Given the description of an element on the screen output the (x, y) to click on. 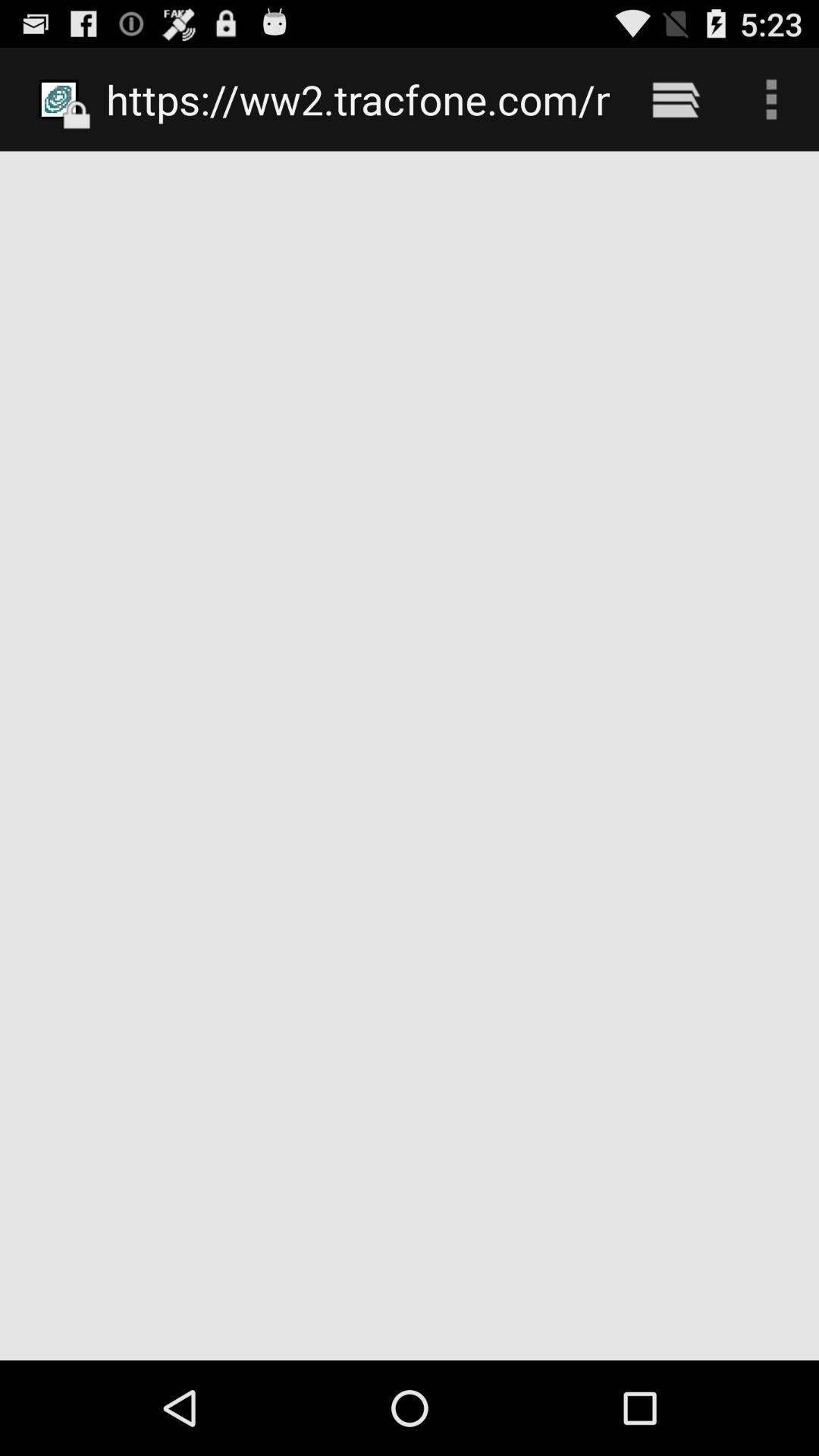
choose the item at the top (357, 99)
